Given the description of an element on the screen output the (x, y) to click on. 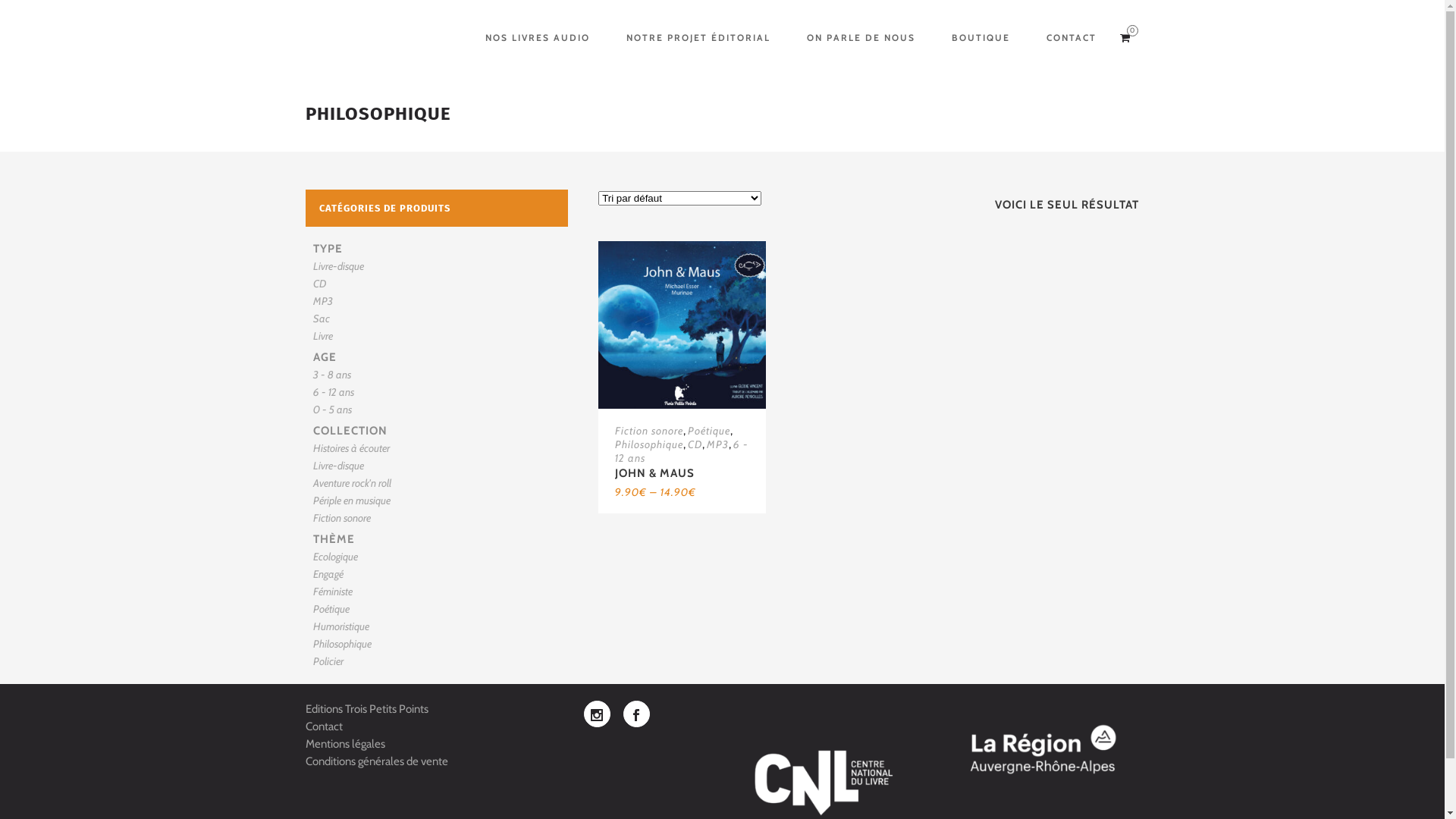
Contact Element type: text (323, 726)
BOUTIQUE Element type: text (979, 37)
MP3 Element type: text (717, 444)
3 - 8 ans Element type: text (331, 374)
Fiction sonore Element type: text (649, 430)
Policier Element type: text (327, 661)
NOS LIVRES AUDIO Element type: text (537, 37)
6 - 12 ans Element type: text (681, 450)
Fiction sonore Element type: text (341, 517)
Livre-disque Element type: text (337, 465)
Sac Element type: text (320, 318)
6 - 12 ans Element type: text (332, 391)
Ecologique Element type: text (334, 556)
0 Element type: text (1127, 37)
Livre Element type: text (322, 335)
MP3 Element type: text (322, 300)
CONTACT Element type: text (1071, 37)
TYPE Element type: text (327, 248)
CD Element type: text (694, 444)
Philosophique Element type: text (649, 444)
0 - 5 ans Element type: text (331, 409)
ON PARLE DE NOUS Element type: text (860, 37)
COLLECTION Element type: text (349, 430)
Livre-disque Element type: text (337, 266)
Philosophique Element type: text (341, 643)
AGE Element type: text (323, 357)
Aventure rock'n roll Element type: text (351, 482)
Humoristique Element type: text (340, 626)
CD Element type: text (318, 283)
